Given the description of an element on the screen output the (x, y) to click on. 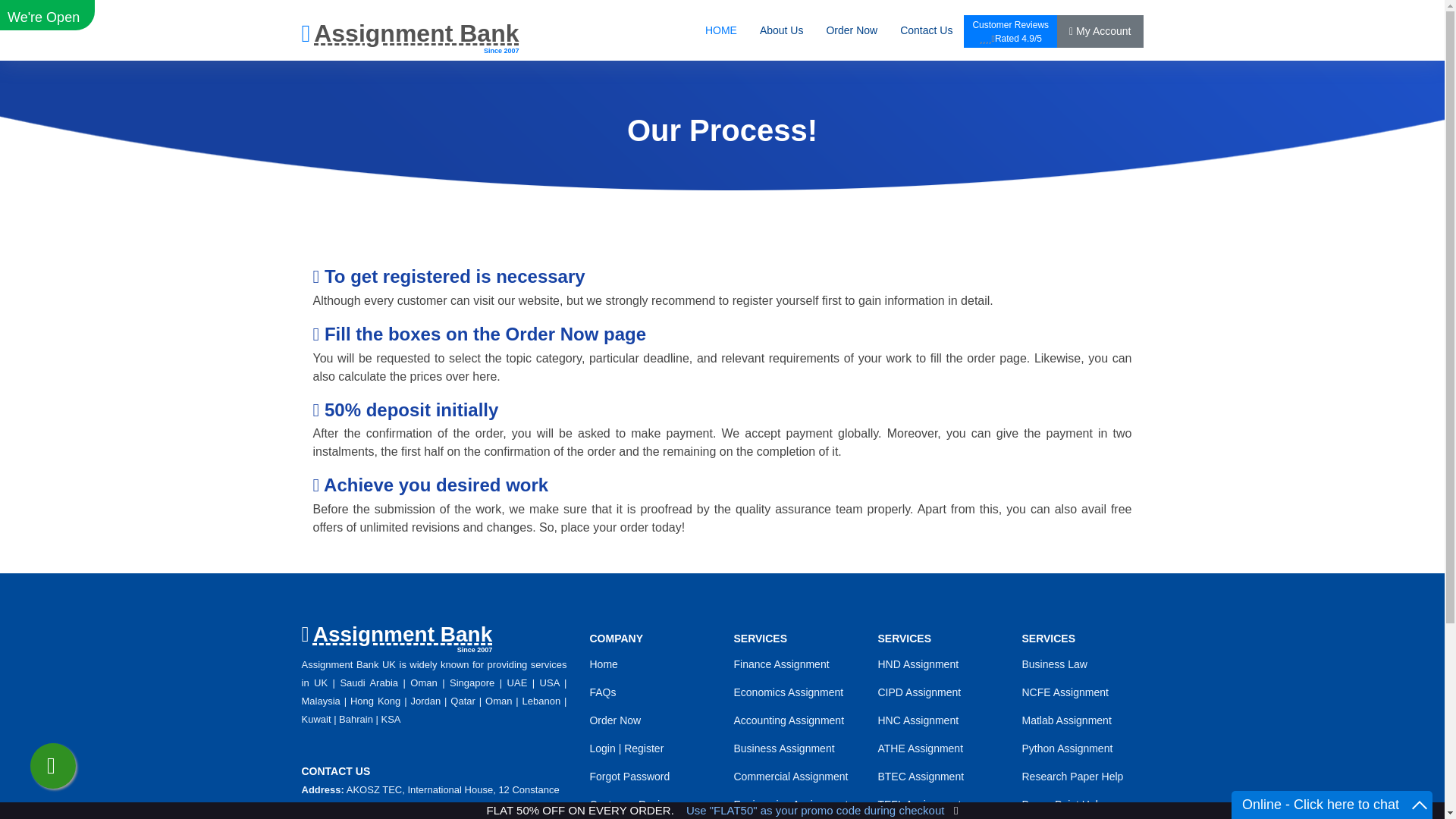
Finance Assignment (397, 637)
Business Assignment (780, 664)
Engineering Assignment (783, 748)
HND Assignment (790, 804)
Forgot Password (917, 664)
HOME (410, 37)
Maximize (629, 776)
Commercial Assignment (721, 30)
Order Now (1419, 805)
Accounting Assignment (790, 776)
Login (850, 30)
About Us (788, 720)
